Given the description of an element on the screen output the (x, y) to click on. 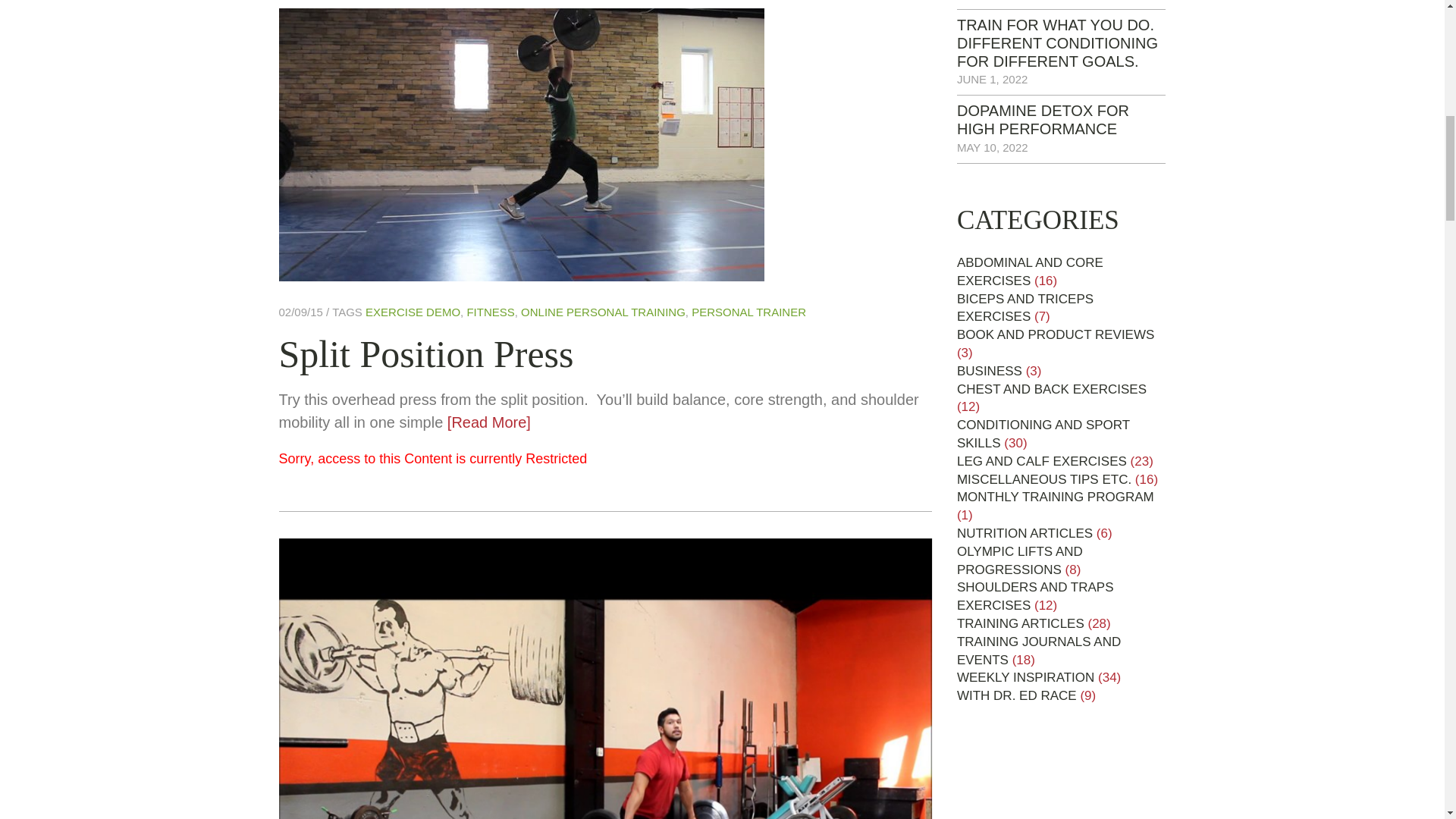
Split Position Press (426, 353)
EXERCISE DEMO (412, 311)
ONLINE PERSONAL TRAINING (603, 311)
PERSONAL TRAINER (748, 311)
FITNESS (489, 311)
